Given the description of an element on the screen output the (x, y) to click on. 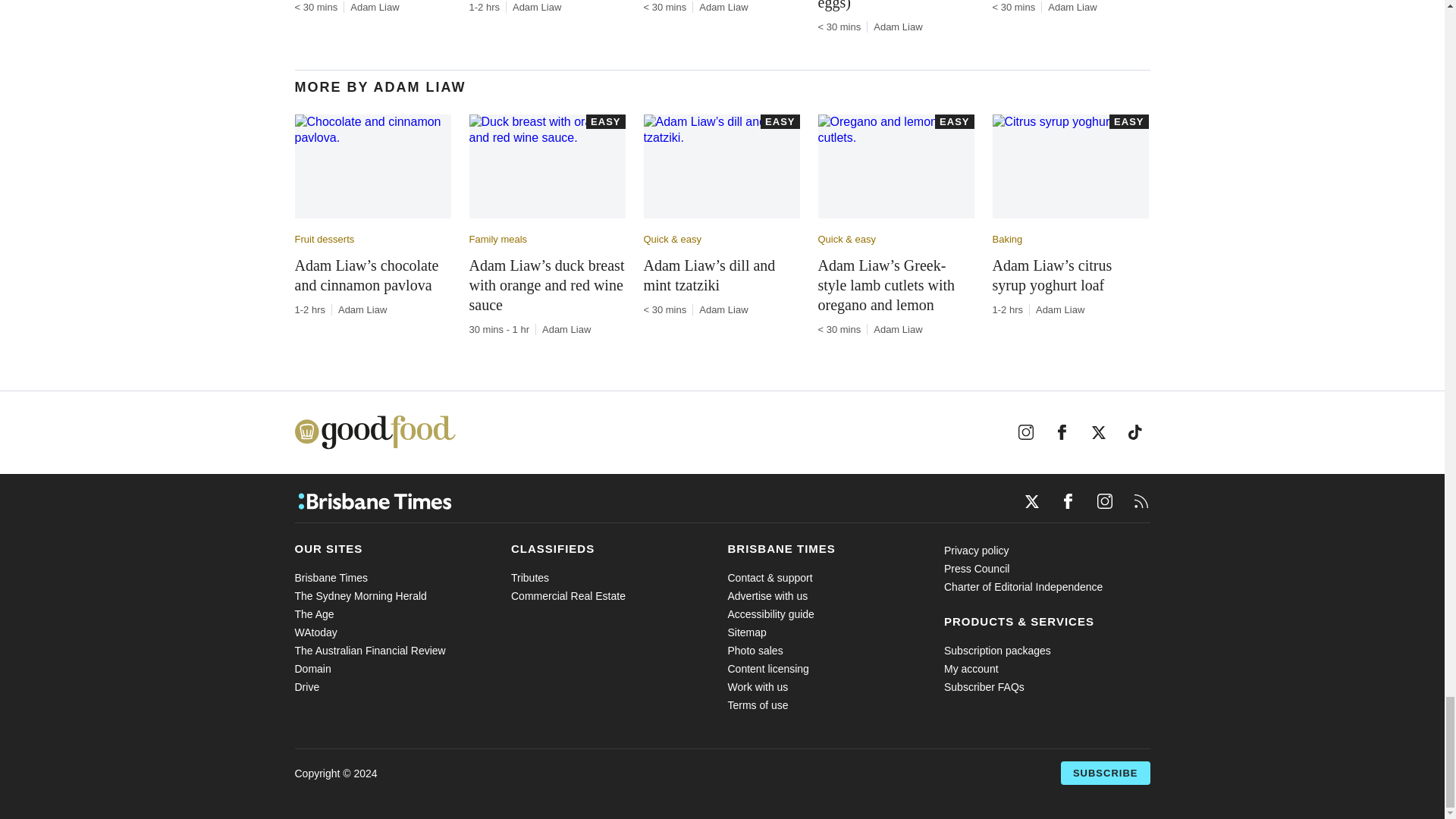
Good Food logo (374, 431)
